Given the description of an element on the screen output the (x, y) to click on. 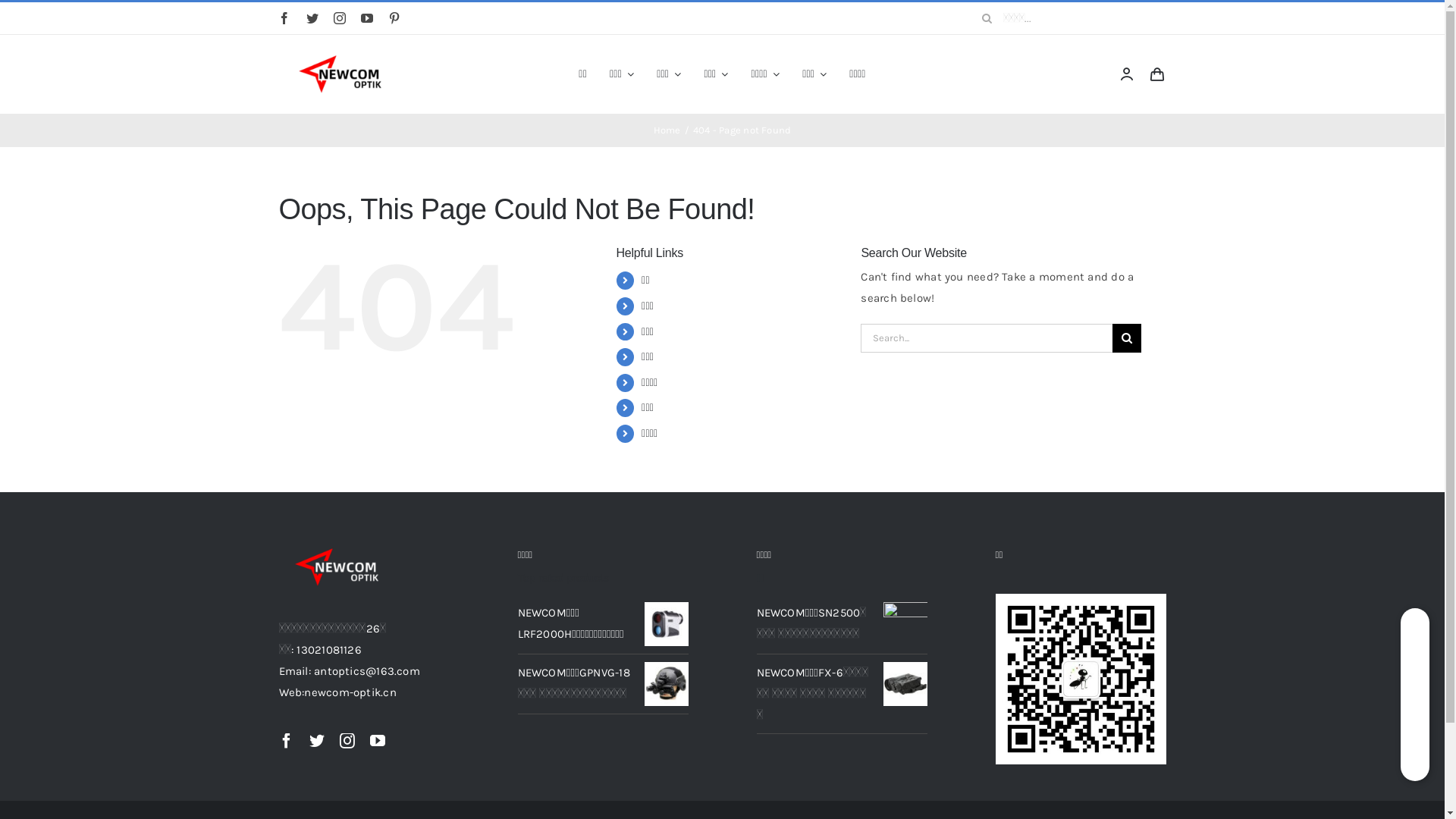
weixin Element type: hover (1079, 678)
Log In Element type: text (1062, 229)
newcom3 Element type: hover (339, 566)
Home Element type: text (666, 129)
